Given the description of an element on the screen output the (x, y) to click on. 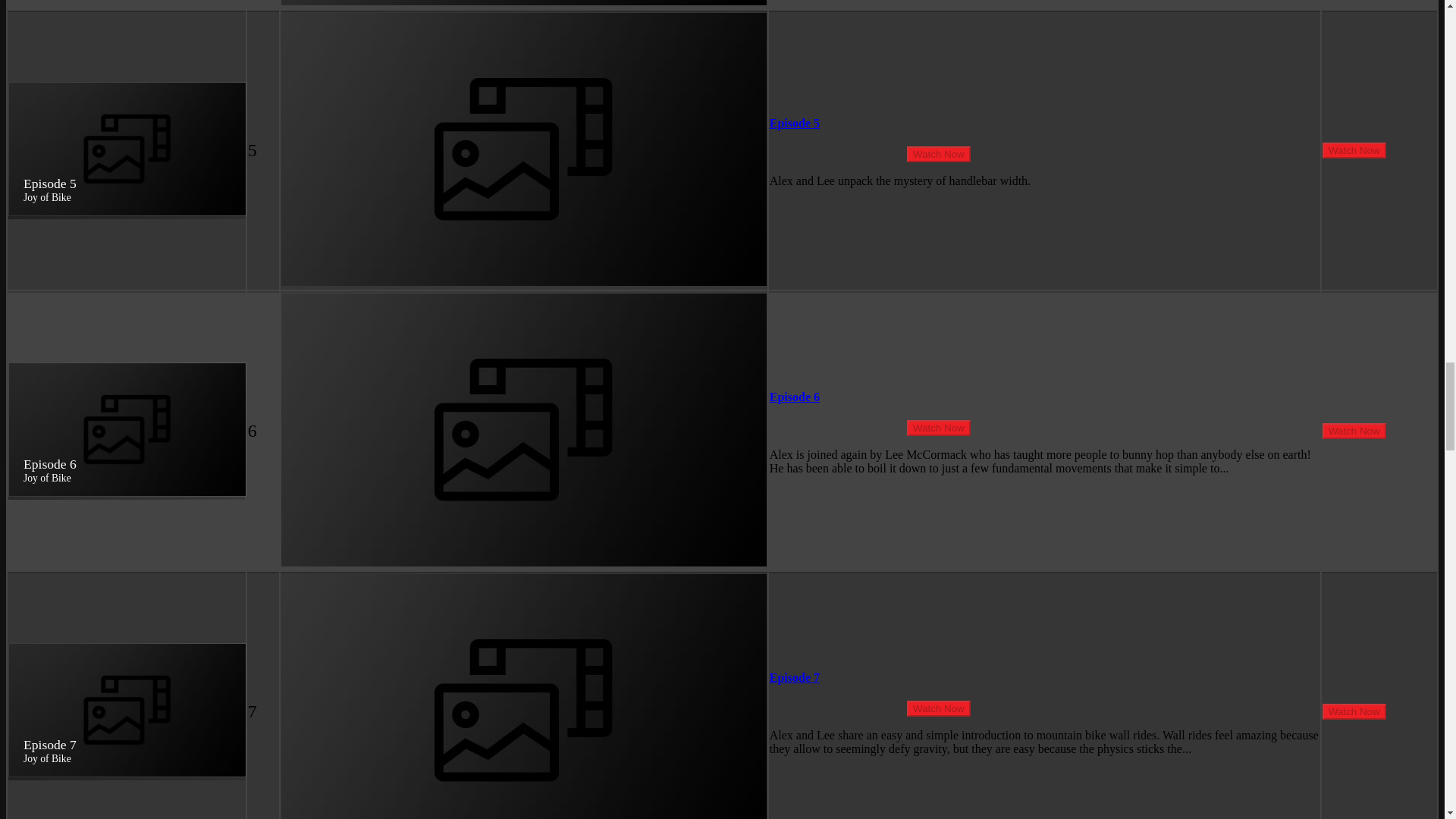
Episode 5 (794, 123)
Episode 6 (794, 396)
Episode 7 (794, 676)
